Given the description of an element on the screen output the (x, y) to click on. 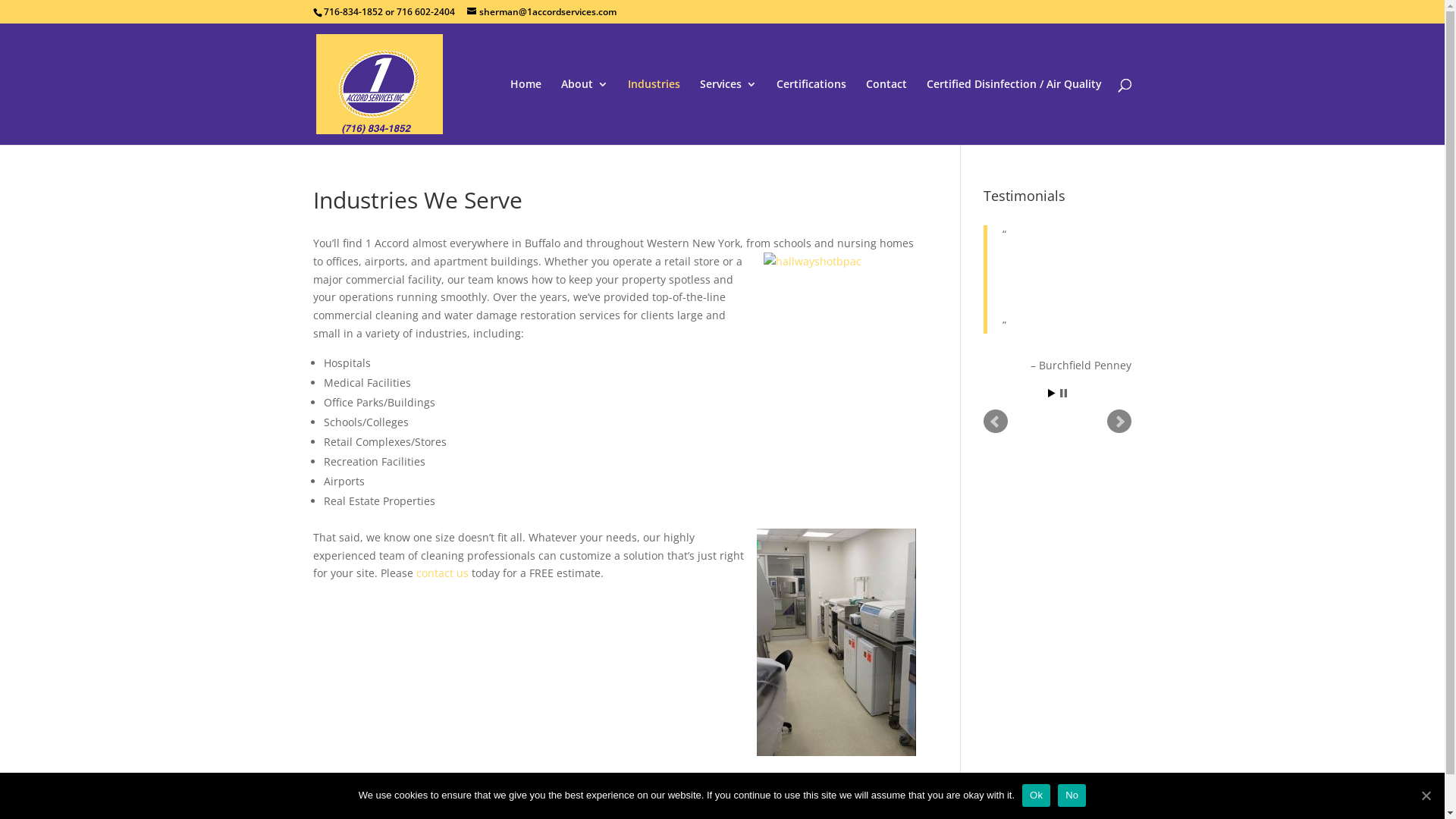
About Element type: text (379, 793)
Certifications Element type: text (811, 111)
Services Element type: text (507, 793)
Industries Element type: text (441, 793)
sherman@1accordservices.com Element type: text (541, 11)
Home Element type: text (524, 111)
About Element type: text (584, 111)
Certified Disinfection / Air Quality Element type: text (1013, 111)
Certifications Element type: text (583, 793)
Start Element type: text (1051, 393)
Stop Element type: text (1063, 393)
Next Element type: text (1119, 421)
contact us Element type: text (441, 572)
Services Element type: text (727, 111)
Contact Element type: text (854, 793)
Industries Element type: text (653, 111)
Home Element type: text (327, 793)
Prev Element type: text (995, 421)
Ok Element type: text (1036, 795)
No Element type: text (1071, 795)
Our Mission Element type: text (783, 793)
Contact Element type: text (886, 111)
In the Community Element type: text (685, 793)
